Given the description of an element on the screen output the (x, y) to click on. 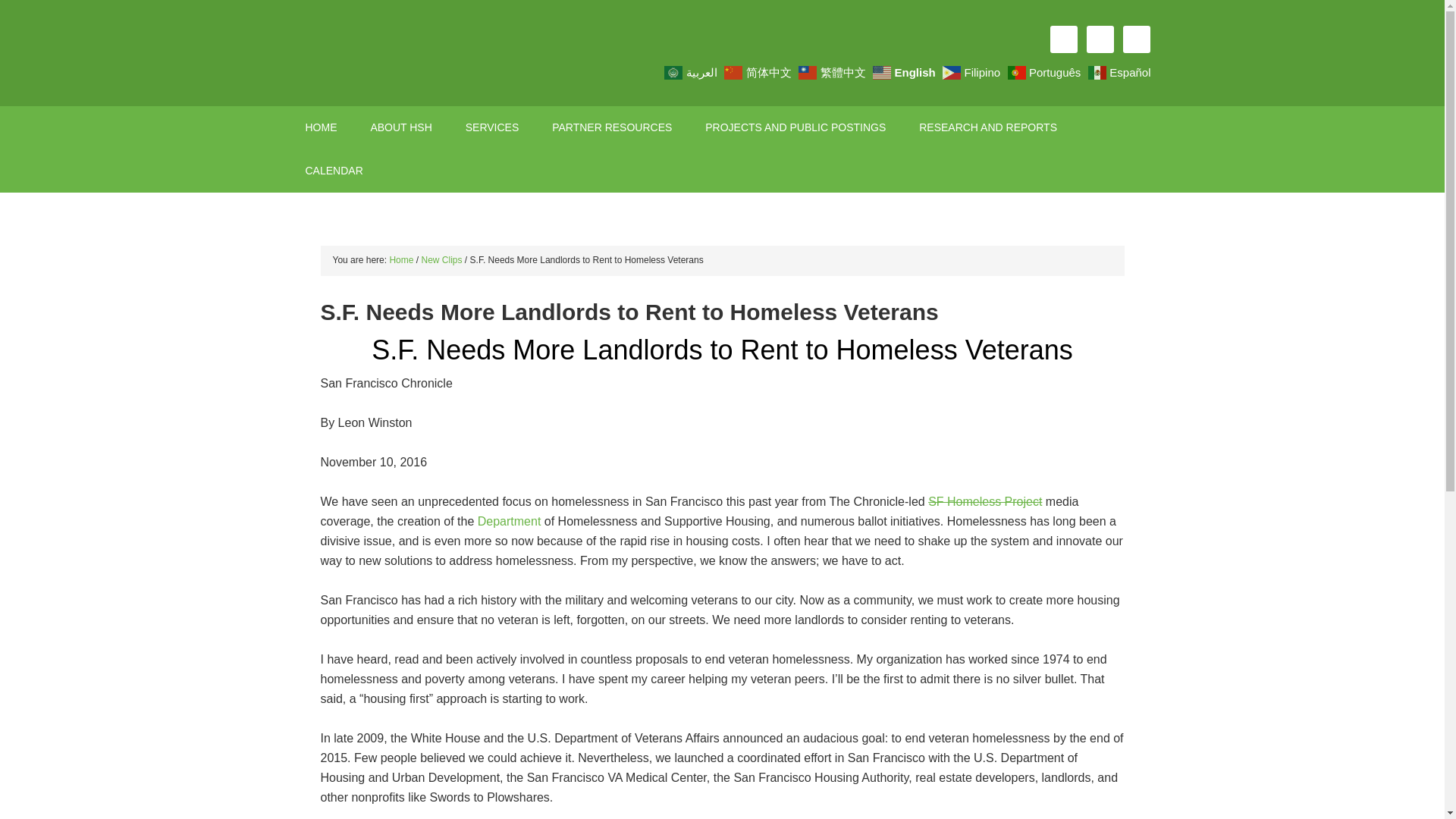
HOME (320, 127)
SF HSH (418, 52)
ABOUT HSH (400, 127)
Filipino (973, 71)
SERVICES (491, 127)
English (905, 71)
